Given the description of an element on the screen output the (x, y) to click on. 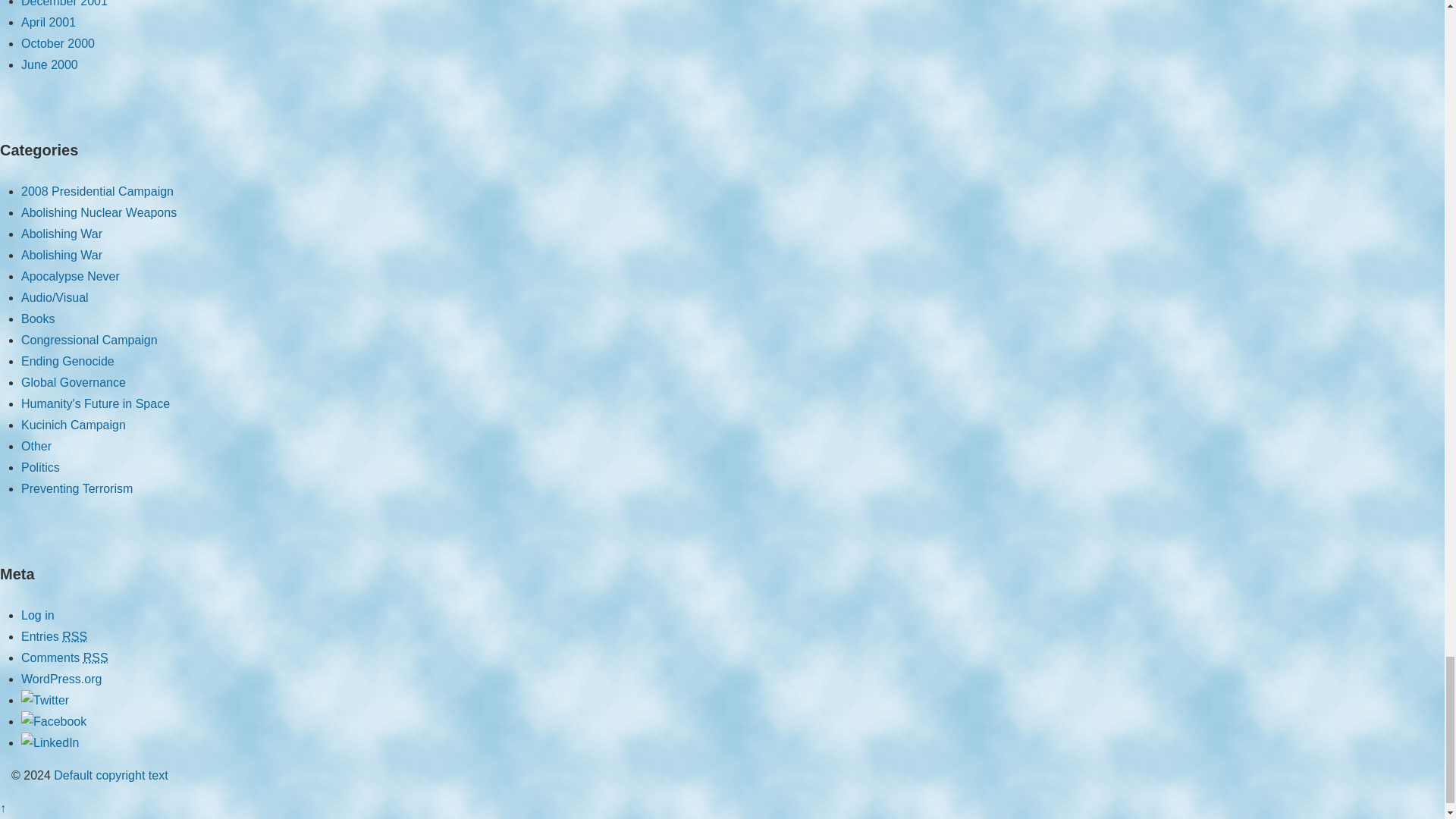
Really Simple Syndication (94, 657)
Interviews and presentations by Dr. Tad Daley (54, 297)
Really Simple Syndication (74, 635)
Daley Planet (109, 775)
